Given the description of an element on the screen output the (x, y) to click on. 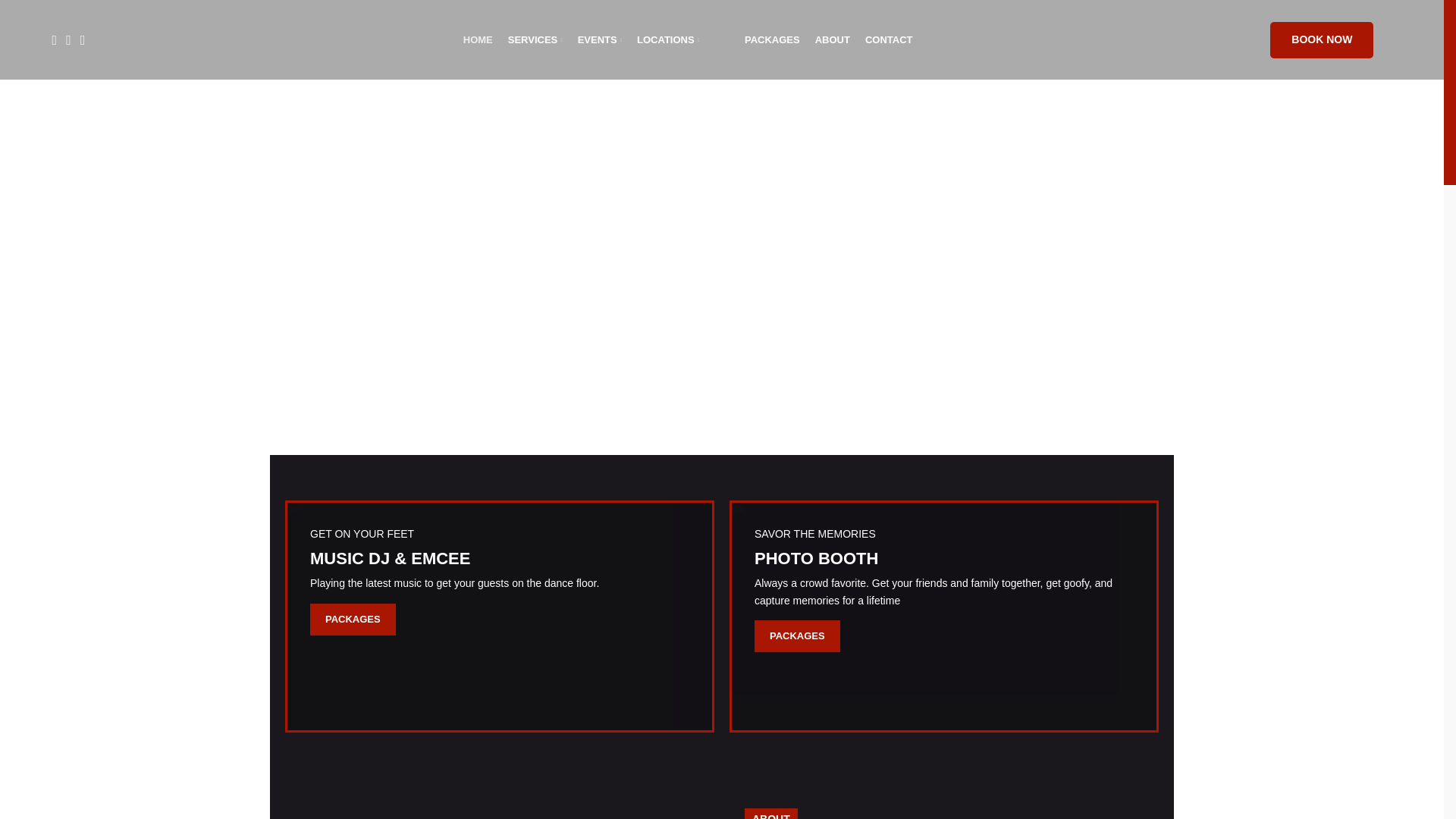
PACKAGES (771, 39)
LOCATIONS (667, 39)
CONTACT (888, 39)
HOME (478, 39)
SERVICES (535, 39)
ABOUT (832, 39)
BOOK NOW (1321, 39)
EVENTS (599, 39)
